Given the description of an element on the screen output the (x, y) to click on. 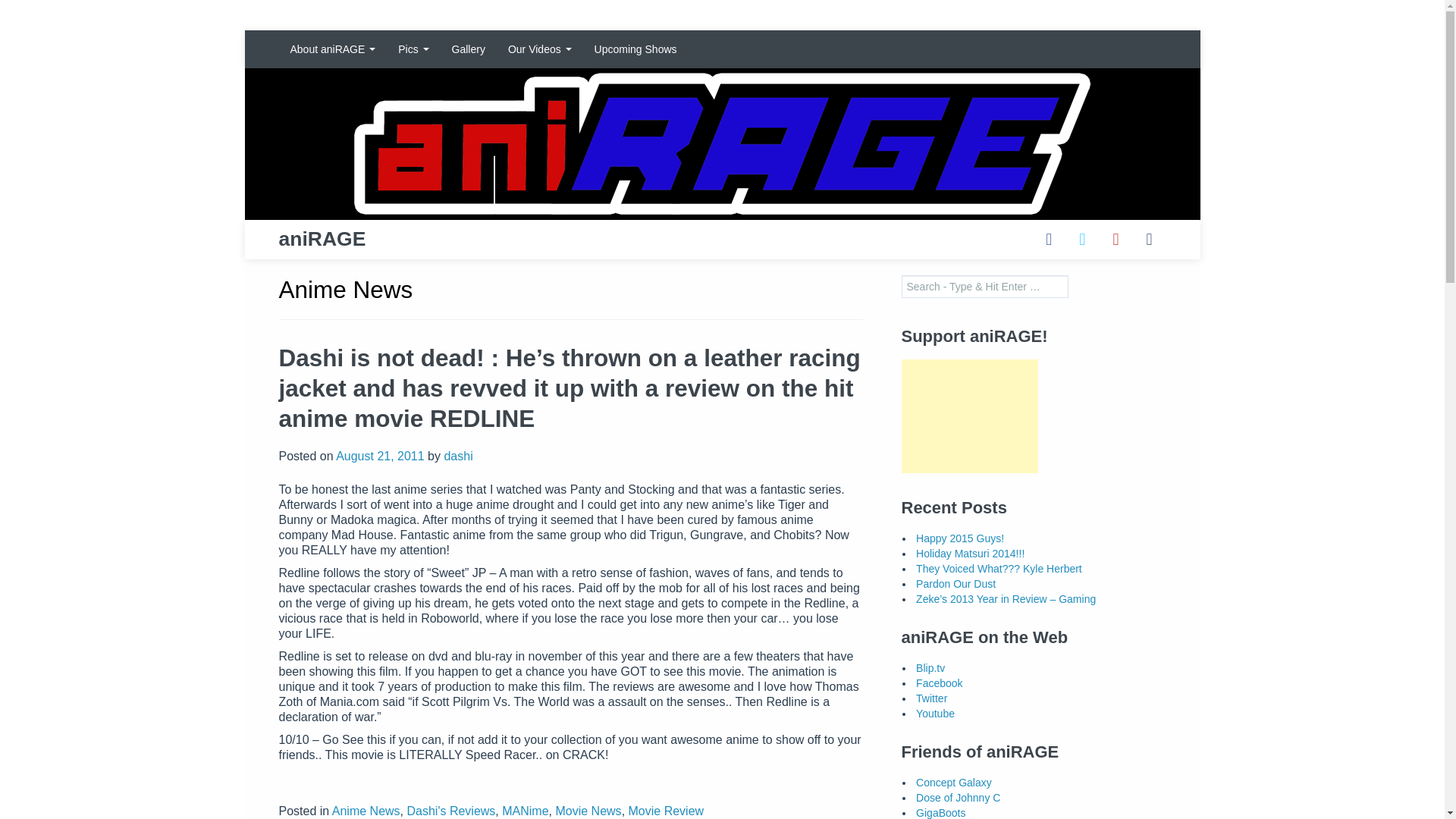
Anime News (365, 810)
About aniRAGE (333, 48)
Gallery (468, 48)
Movie News (587, 810)
Our Videos (539, 48)
Search for: (984, 286)
8:18 pm (380, 455)
View all posts by dashi (457, 455)
Dashi's Reviews (450, 810)
aniRAGE (322, 235)
